Given the description of an element on the screen output the (x, y) to click on. 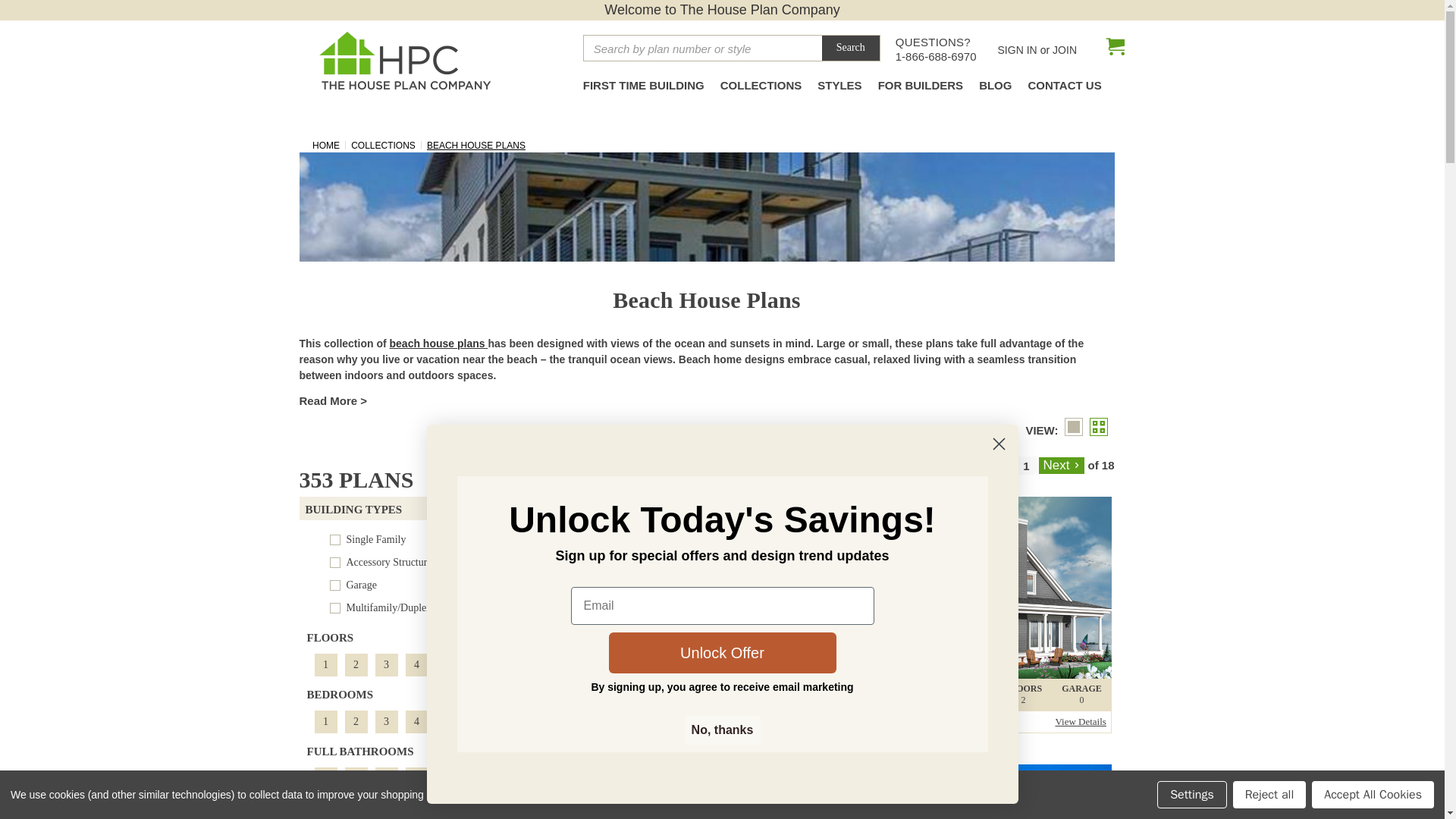
Beach House Plans (705, 206)
Florence 2 - 40487 (982, 587)
grid (1101, 427)
COLLECTIONS (761, 89)
JOIN (1064, 50)
FIRST TIME BUILDING (405, 664)
1-866-688-6970 (643, 89)
Hartley - 16551 (935, 56)
Beach Walk - 35678 (982, 791)
Seagate - 64588 (673, 791)
SIGN IN (673, 587)
Next page (1016, 50)
